Given the description of an element on the screen output the (x, y) to click on. 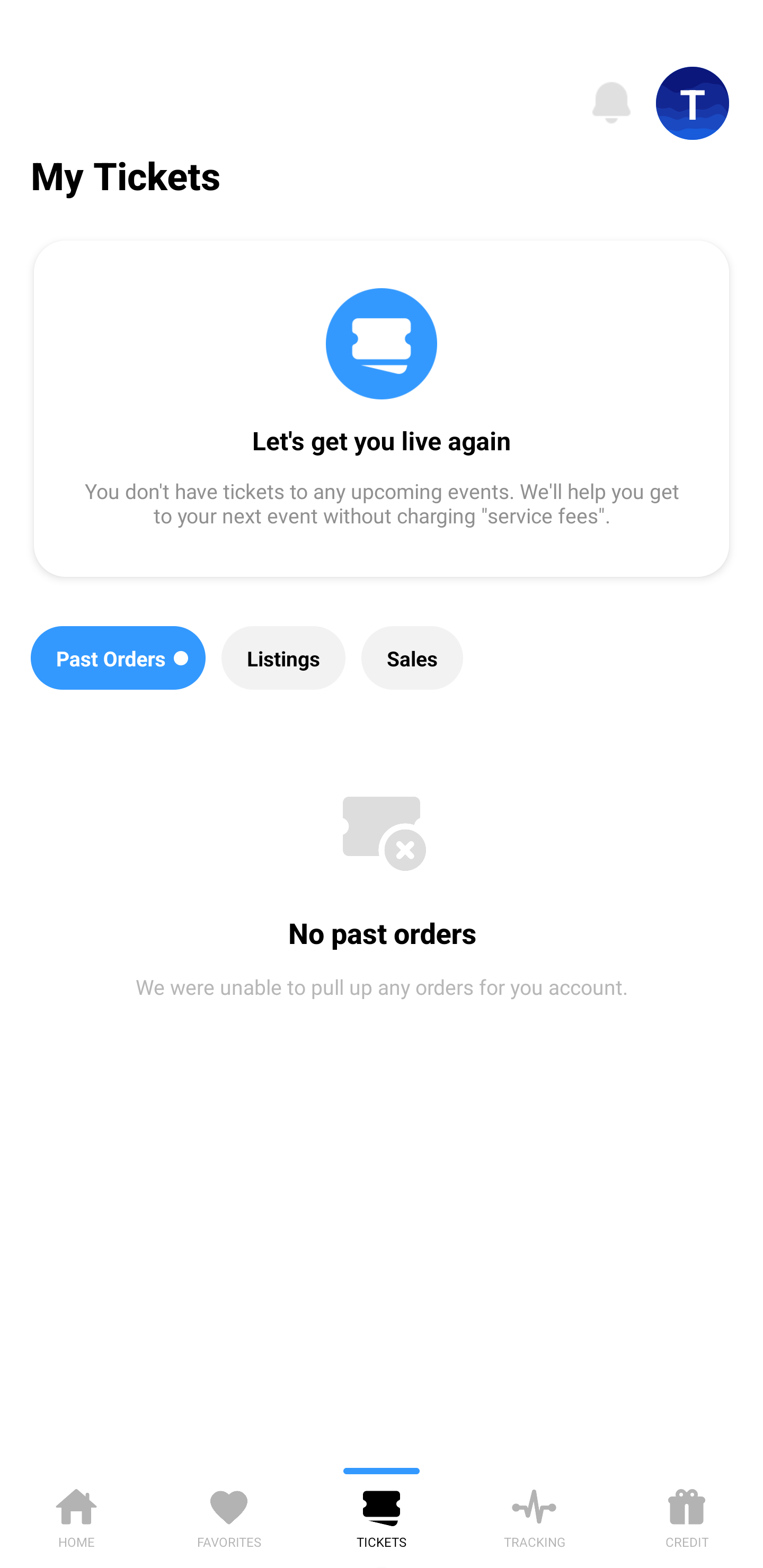
T (692, 103)
Past Orders (117, 657)
Listings (283, 657)
Sales (412, 657)
HOME (76, 1515)
FAVORITES (228, 1515)
TICKETS (381, 1515)
TRACKING (533, 1515)
CREDIT (686, 1515)
